Given the description of an element on the screen output the (x, y) to click on. 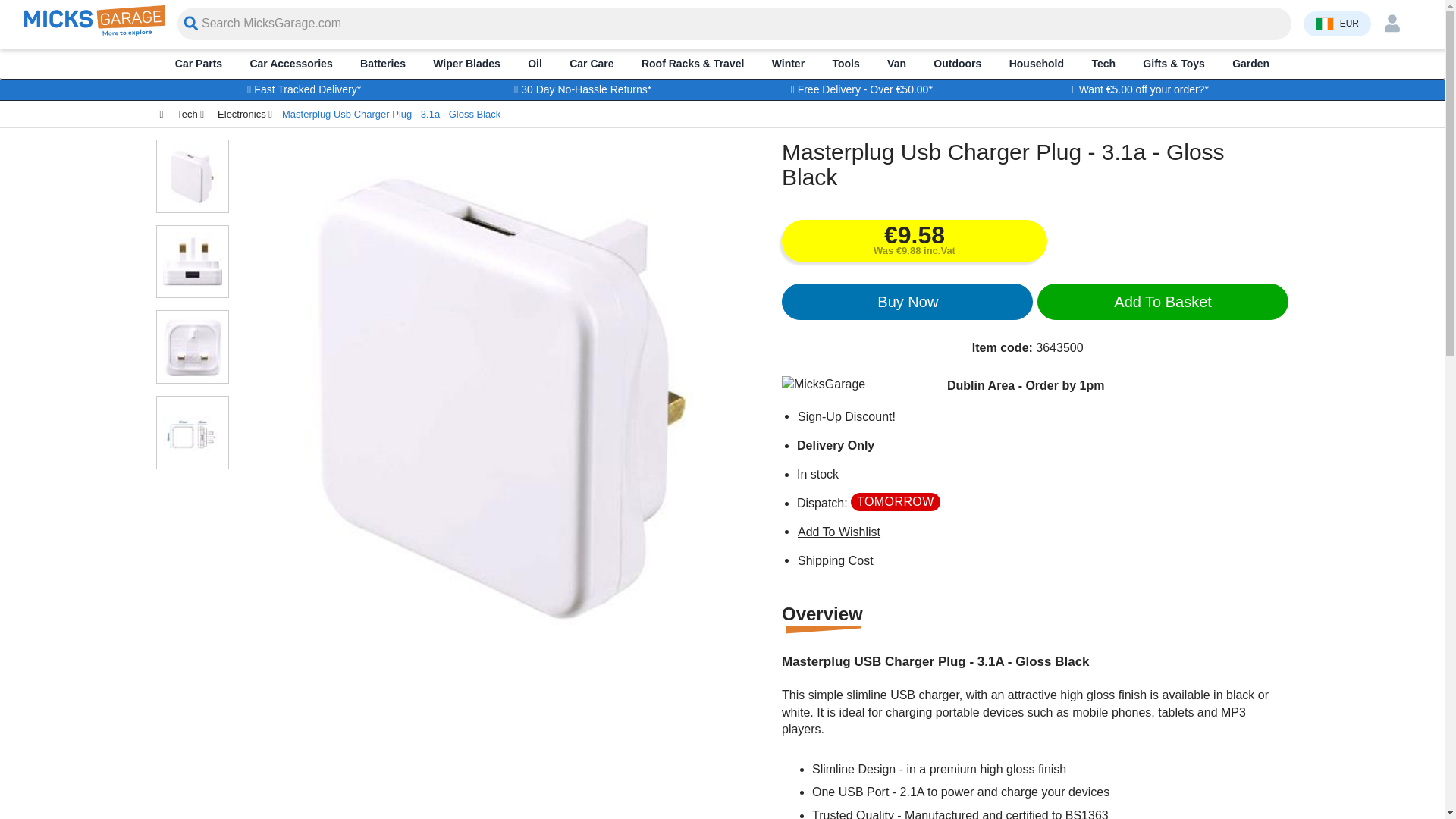
Car Care (591, 63)
Winter (788, 63)
Wiper Blades (466, 63)
Outdoors (957, 63)
EUR (1337, 23)
Batteries (382, 63)
Tech (1103, 63)
Outdoors (957, 63)
Garden (1250, 63)
Car Accessories (291, 63)
car Parts (198, 63)
Garden (1250, 63)
Tools (845, 63)
Batteries (382, 63)
Car Care (591, 63)
